Given the description of an element on the screen output the (x, y) to click on. 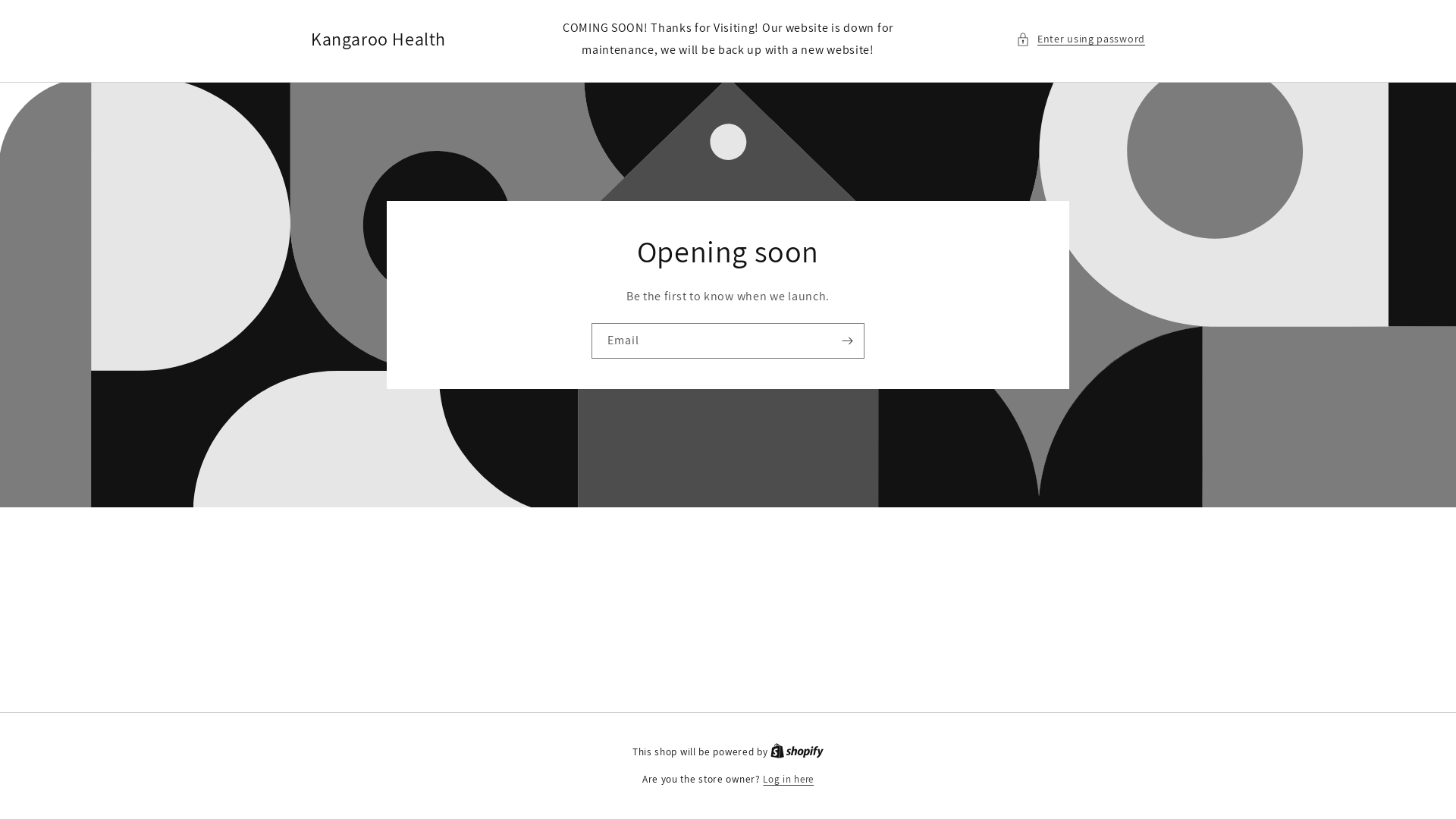
Log in here Element type: text (787, 779)
